Given the description of an element on the screen output the (x, y) to click on. 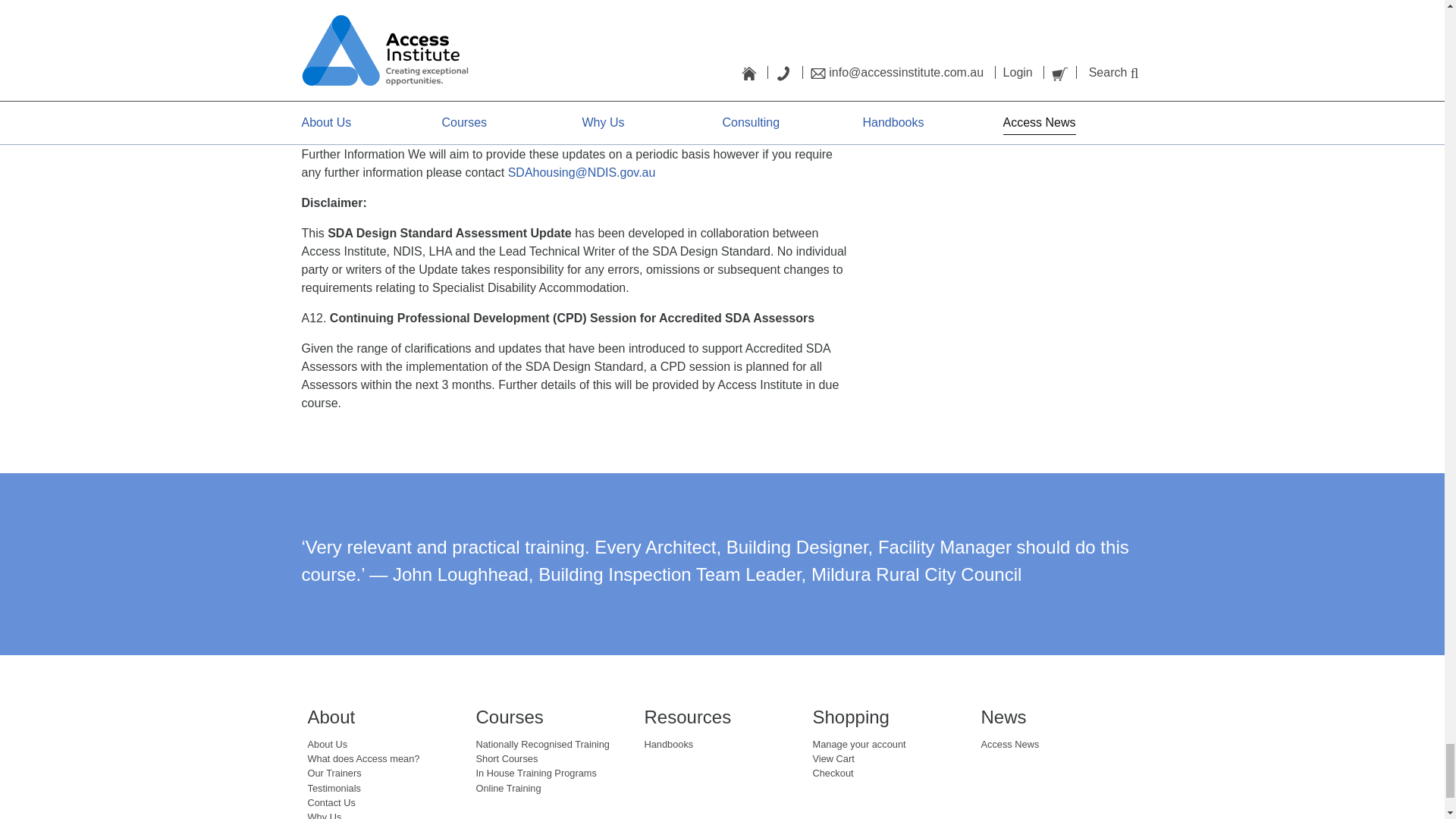
About Us (327, 744)
Testimonials (334, 787)
What does Access mean? (363, 758)
Our Trainers (334, 772)
Contact Us (331, 802)
Nationally Recognised Training (543, 744)
